Given the description of an element on the screen output the (x, y) to click on. 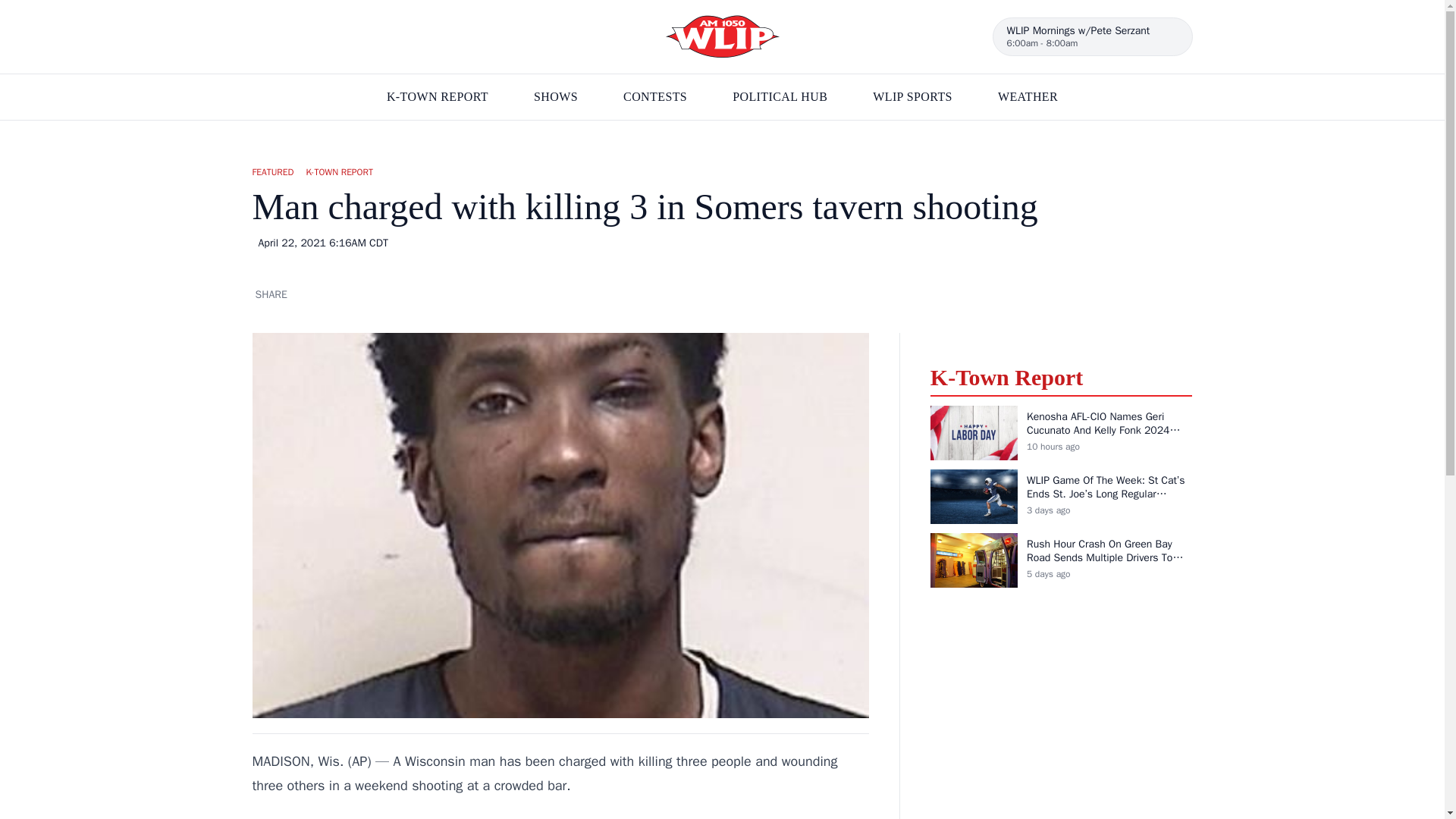
AM 1050 WLIP (721, 36)
CONTESTS (655, 96)
WLIP SPORTS (912, 96)
WEATHER (1027, 96)
POLITICAL HUB (779, 96)
K-TOWN REPORT (437, 96)
SHOWS (556, 96)
